Given the description of an element on the screen output the (x, y) to click on. 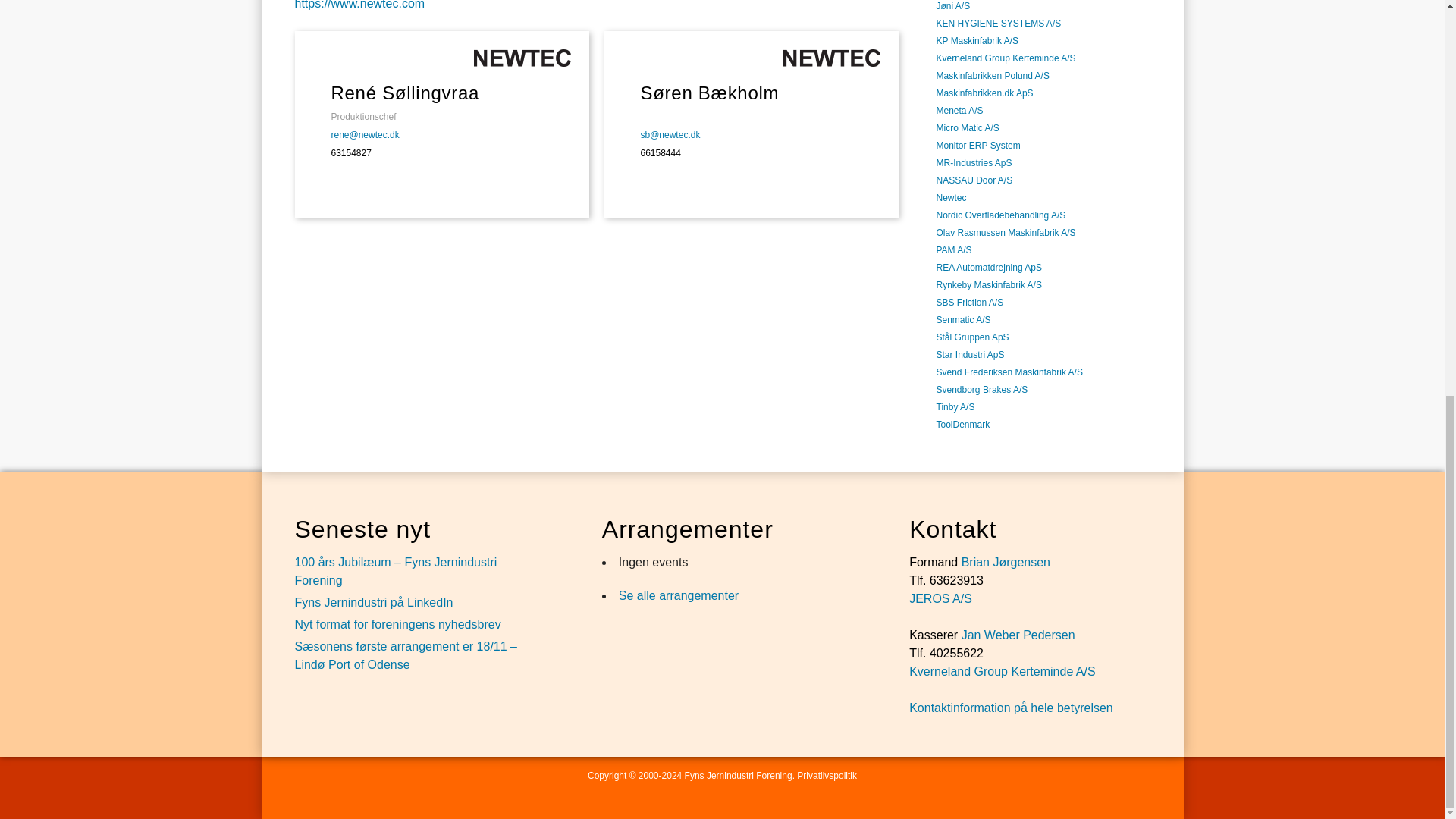
Se alle arrangementer (678, 594)
